Given the description of an element on the screen output the (x, y) to click on. 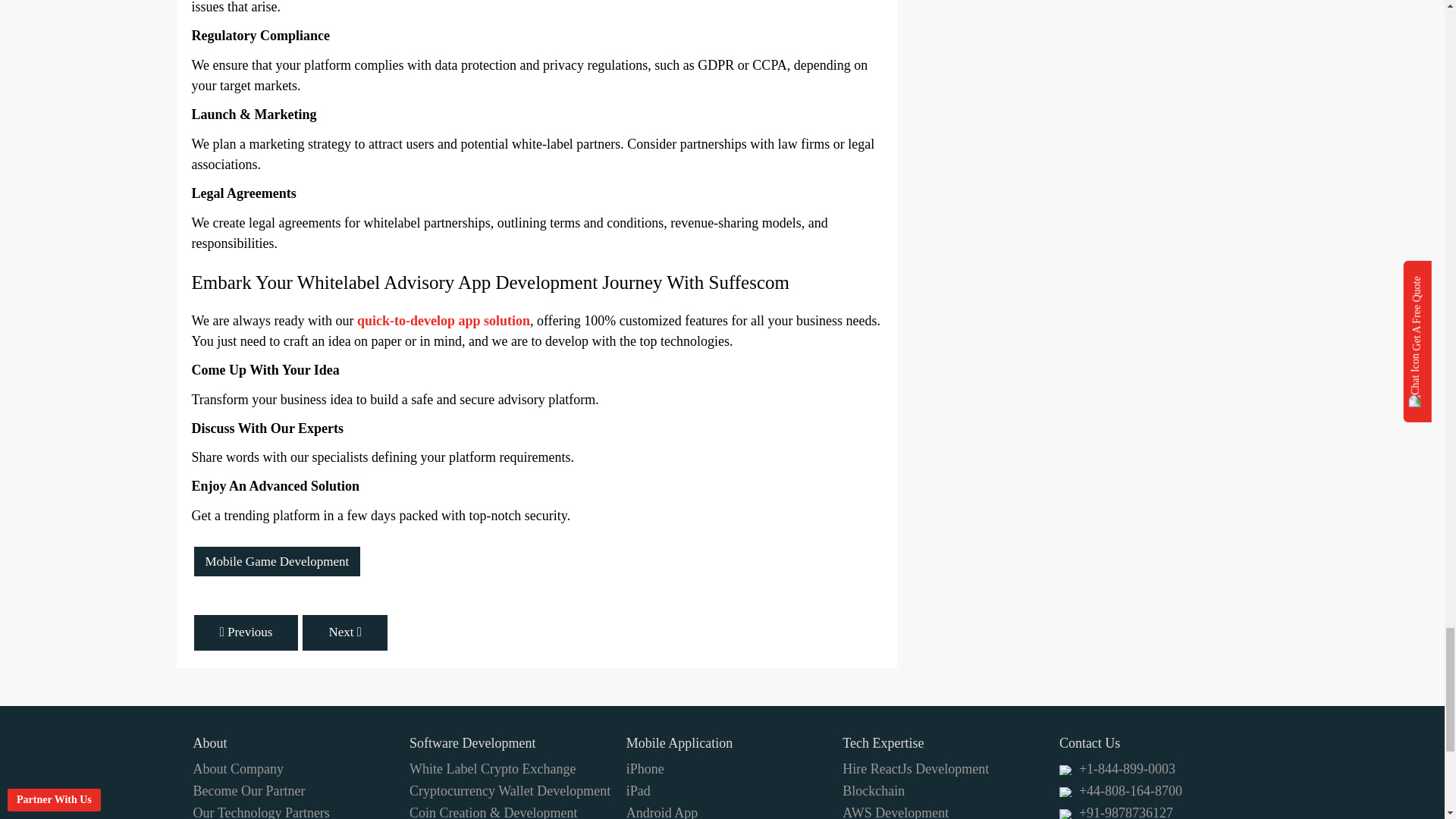
Launch An NSFW AI Chatbot For An Elevated Dating Experience (245, 632)
